Given the description of an element on the screen output the (x, y) to click on. 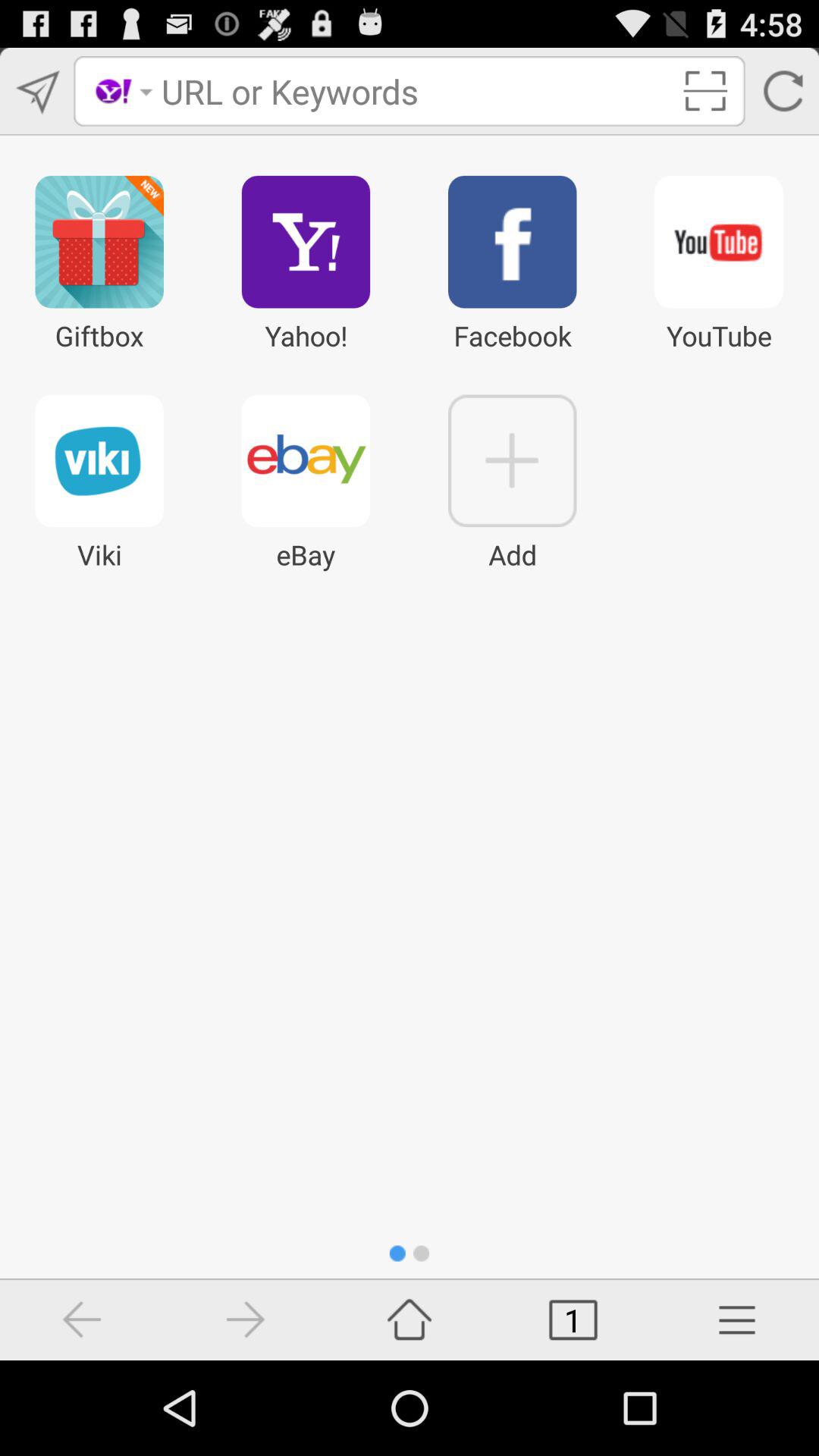
type keyword search destination (415, 91)
